Given the description of an element on the screen output the (x, y) to click on. 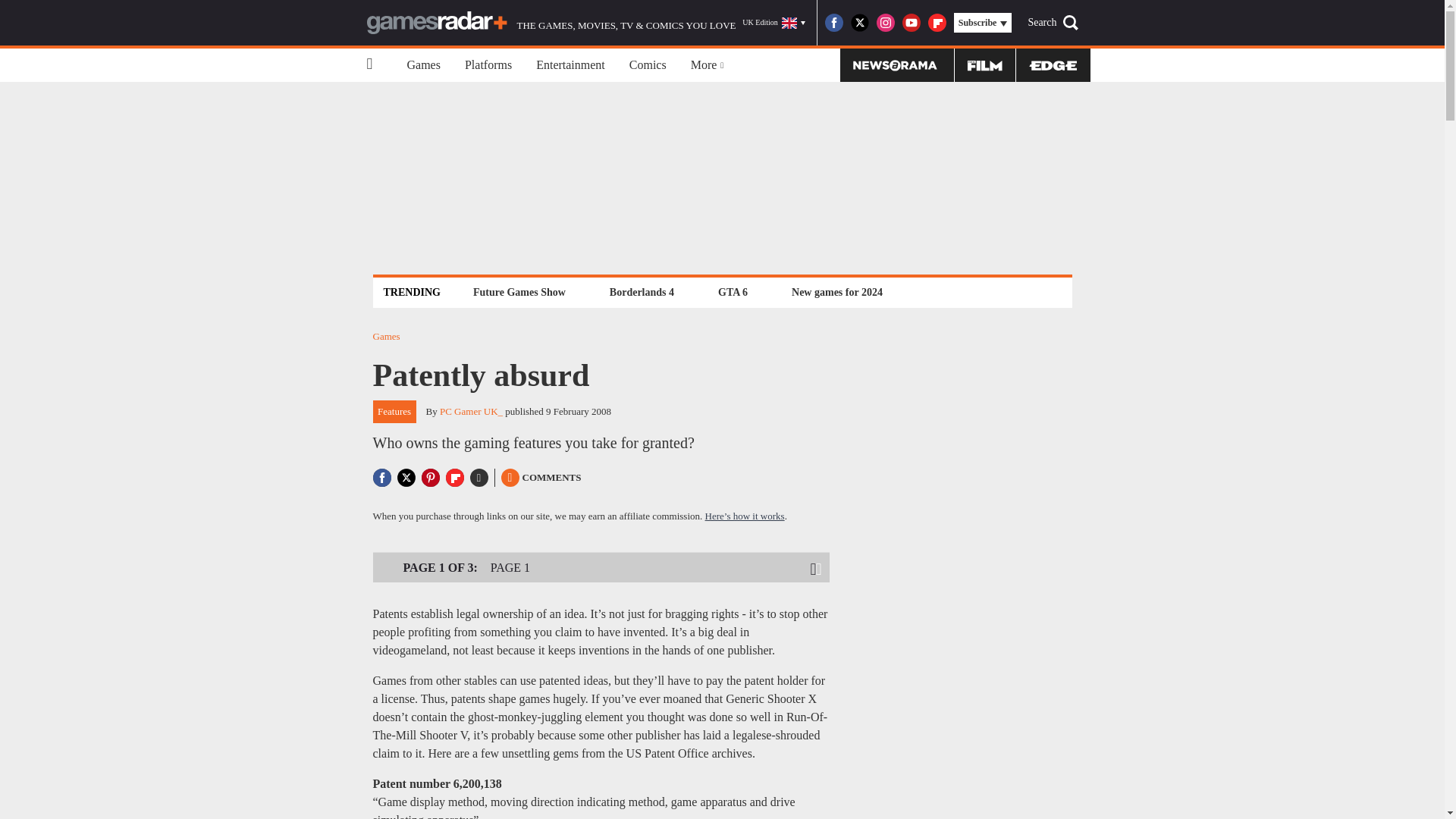
UK Edition (773, 22)
Borderlands 4 (641, 292)
New games for 2024 (837, 292)
Platforms (488, 64)
Future Games Show (518, 292)
Games (422, 64)
Comics (647, 64)
Entertainment (570, 64)
GTA 6 (732, 292)
